Given the description of an element on the screen output the (x, y) to click on. 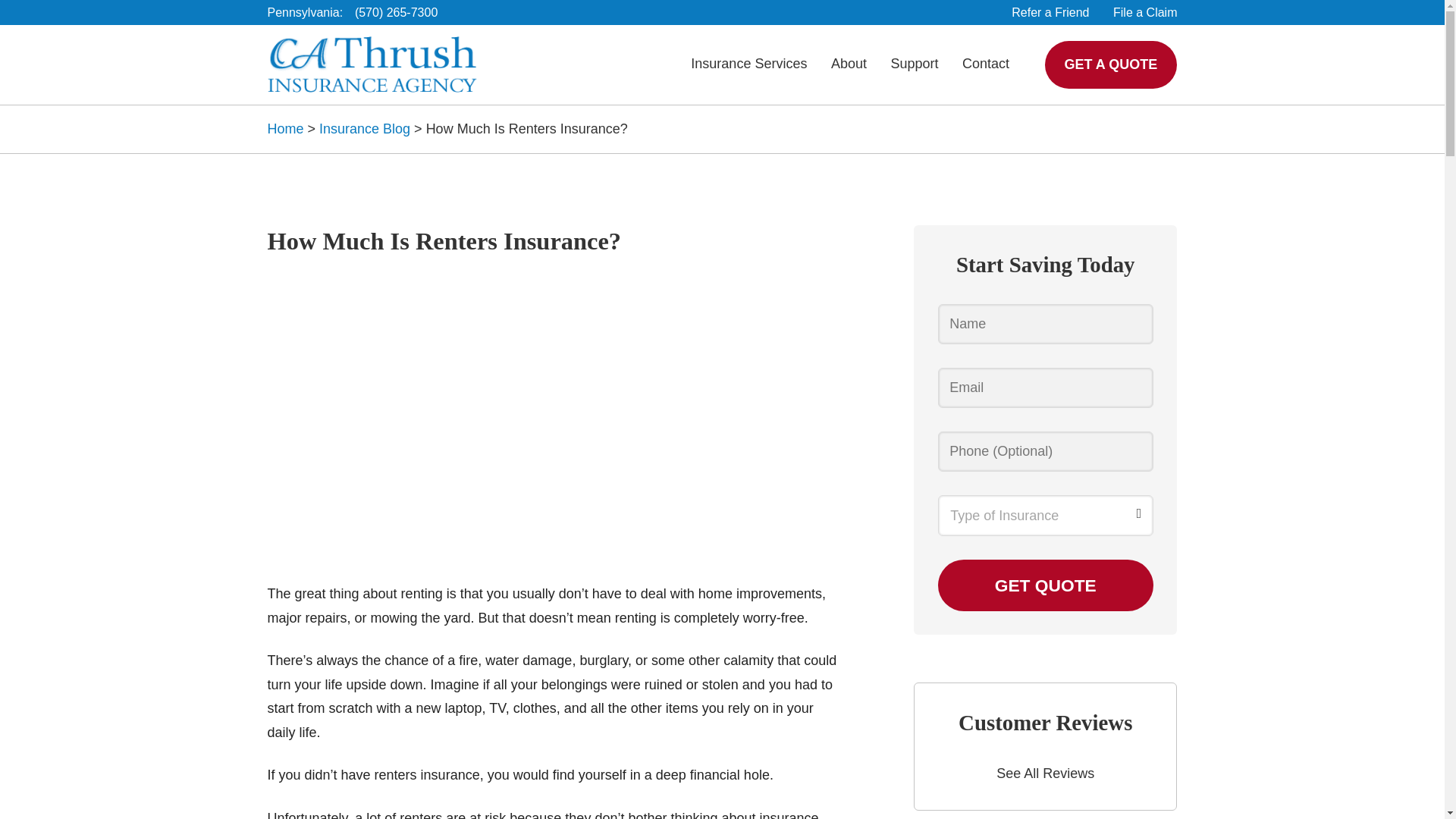
Logo (371, 64)
File a Claim (1144, 11)
Insurance Services (749, 64)
About (848, 64)
Get Quote (1045, 584)
Home Page (371, 64)
Refer a Friend (1050, 11)
